Given the description of an element on the screen output the (x, y) to click on. 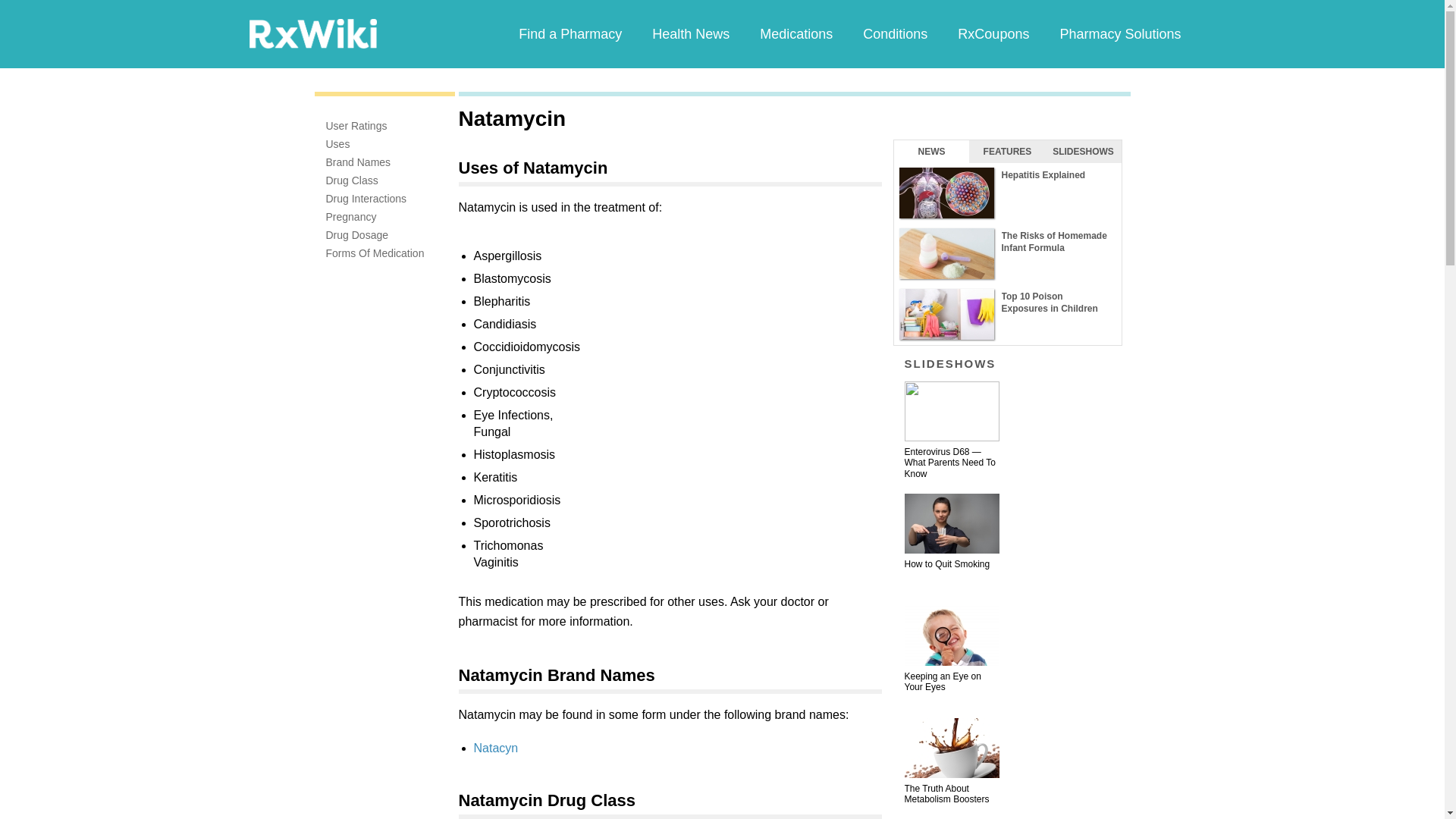
User Ratings (356, 125)
Natacyn (495, 748)
Find a Pharmacy (570, 33)
RxWiki (312, 32)
Drug Interactions (366, 198)
RxCoupons (992, 33)
Medications (795, 33)
Brand Names (358, 162)
Pregnancy (351, 216)
Uses (338, 143)
Drug Dosage (357, 234)
Pharmacy Solutions (1119, 33)
Forms Of Medication (375, 253)
Drug Class (352, 180)
Conditions (894, 33)
